Given the description of an element on the screen output the (x, y) to click on. 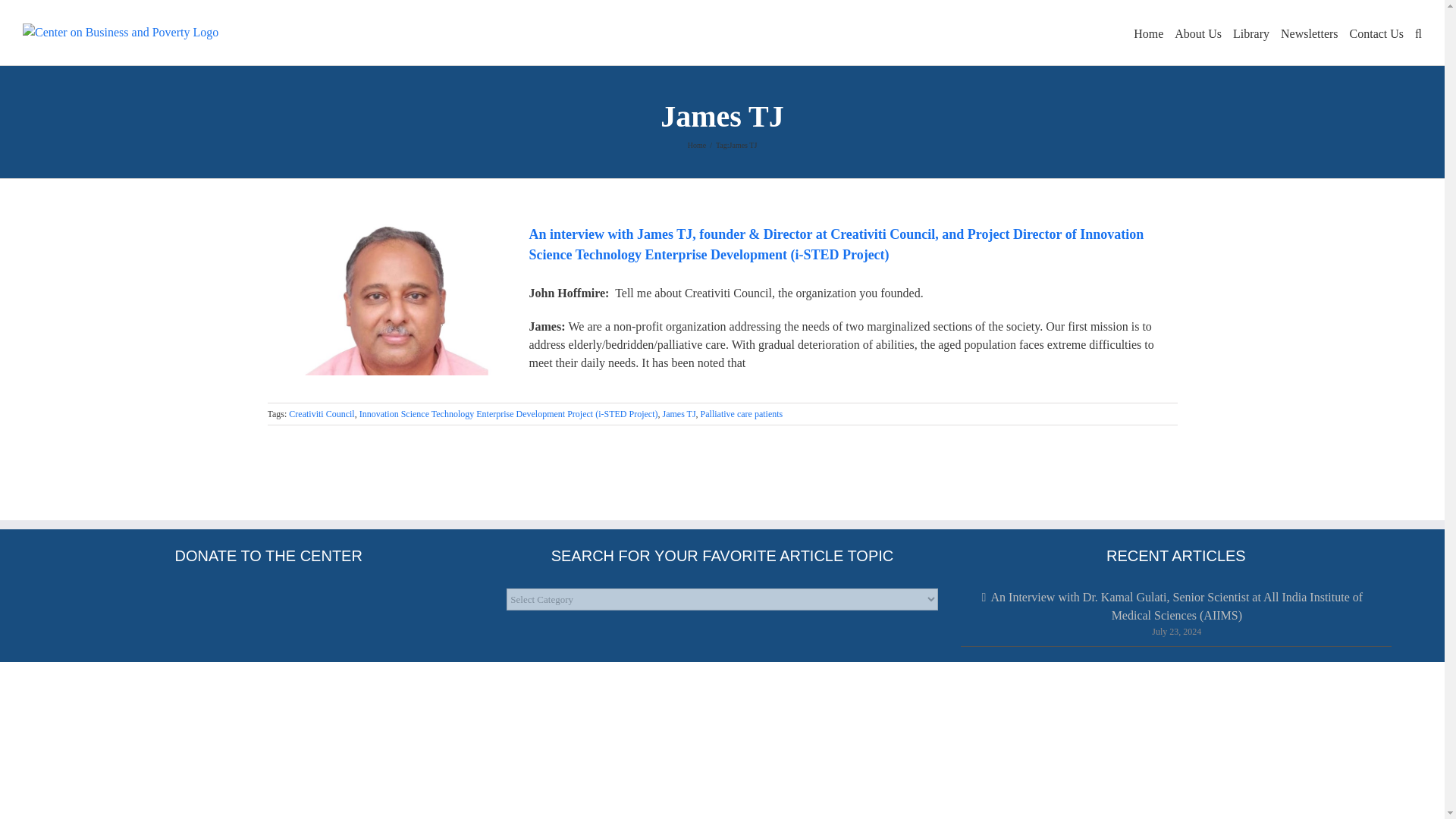
Home (696, 144)
Newsletters (1309, 31)
Creativiti Council (320, 413)
